Given the description of an element on the screen output the (x, y) to click on. 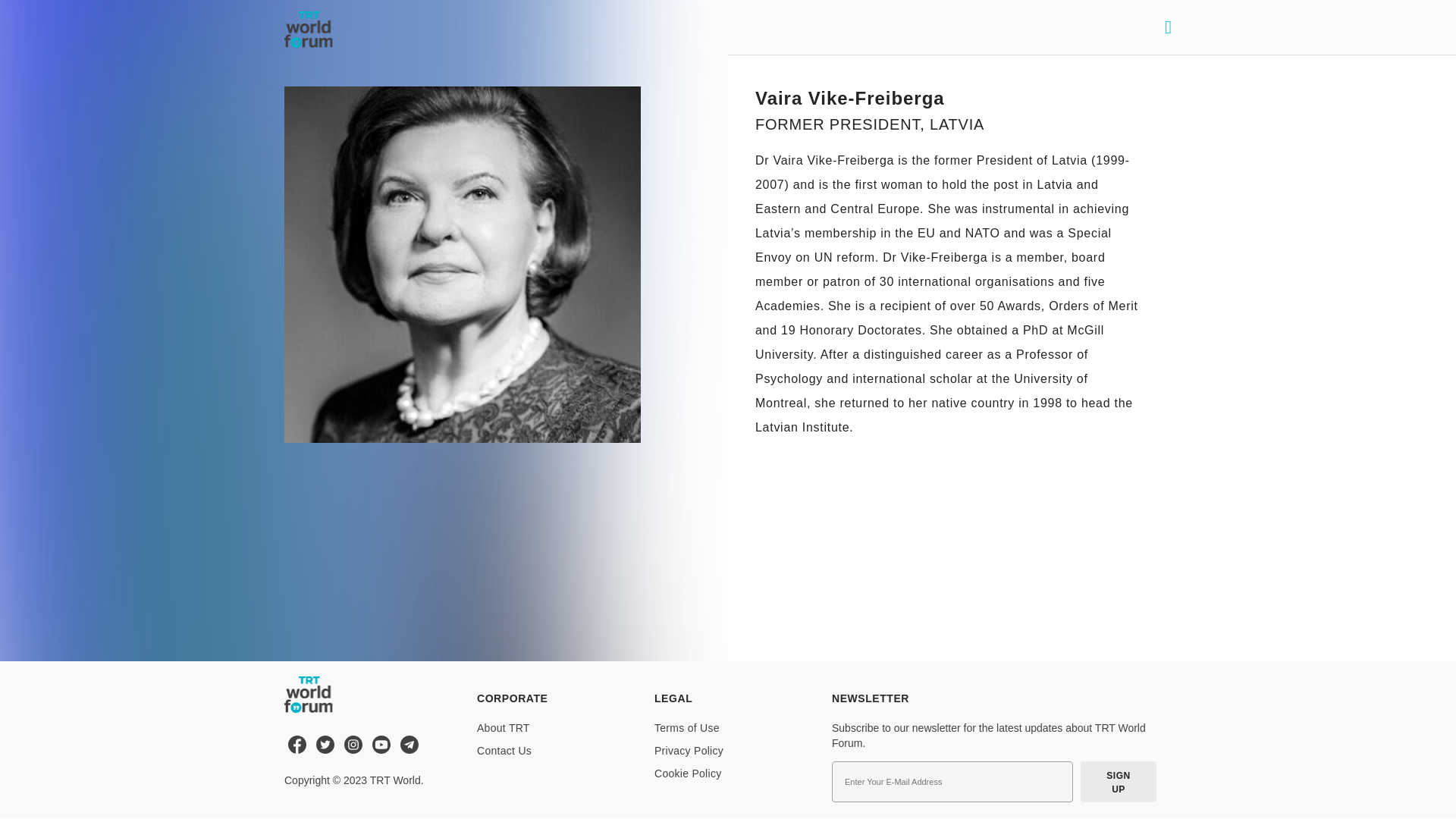
Cookie Policy (686, 773)
About TRT (503, 727)
Privacy Policy (688, 750)
SIGN UP (1118, 781)
Terms of Use (686, 727)
Contact Us (504, 750)
